Given the description of an element on the screen output the (x, y) to click on. 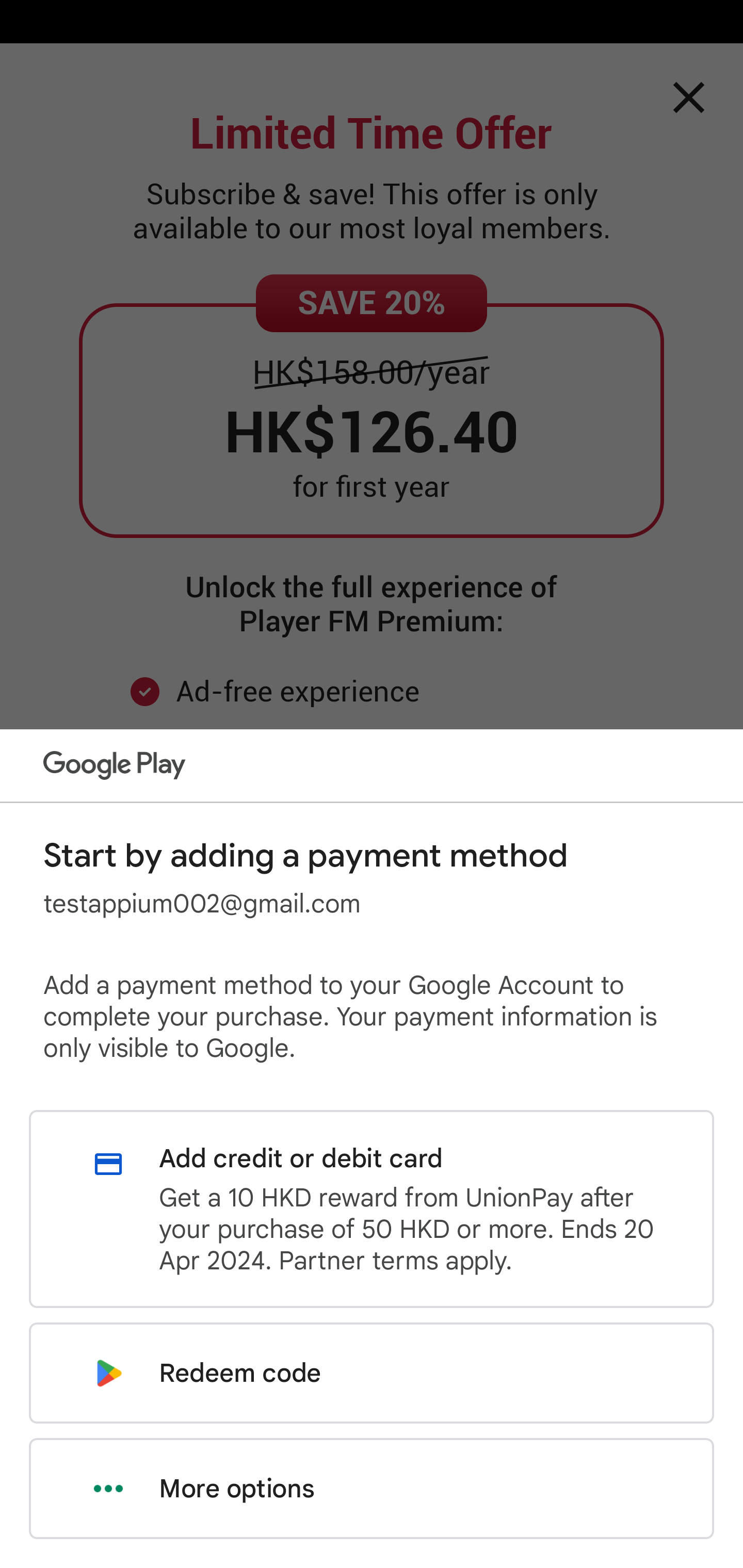
Redeem code (371, 1372)
More options (371, 1488)
